Given the description of an element on the screen output the (x, y) to click on. 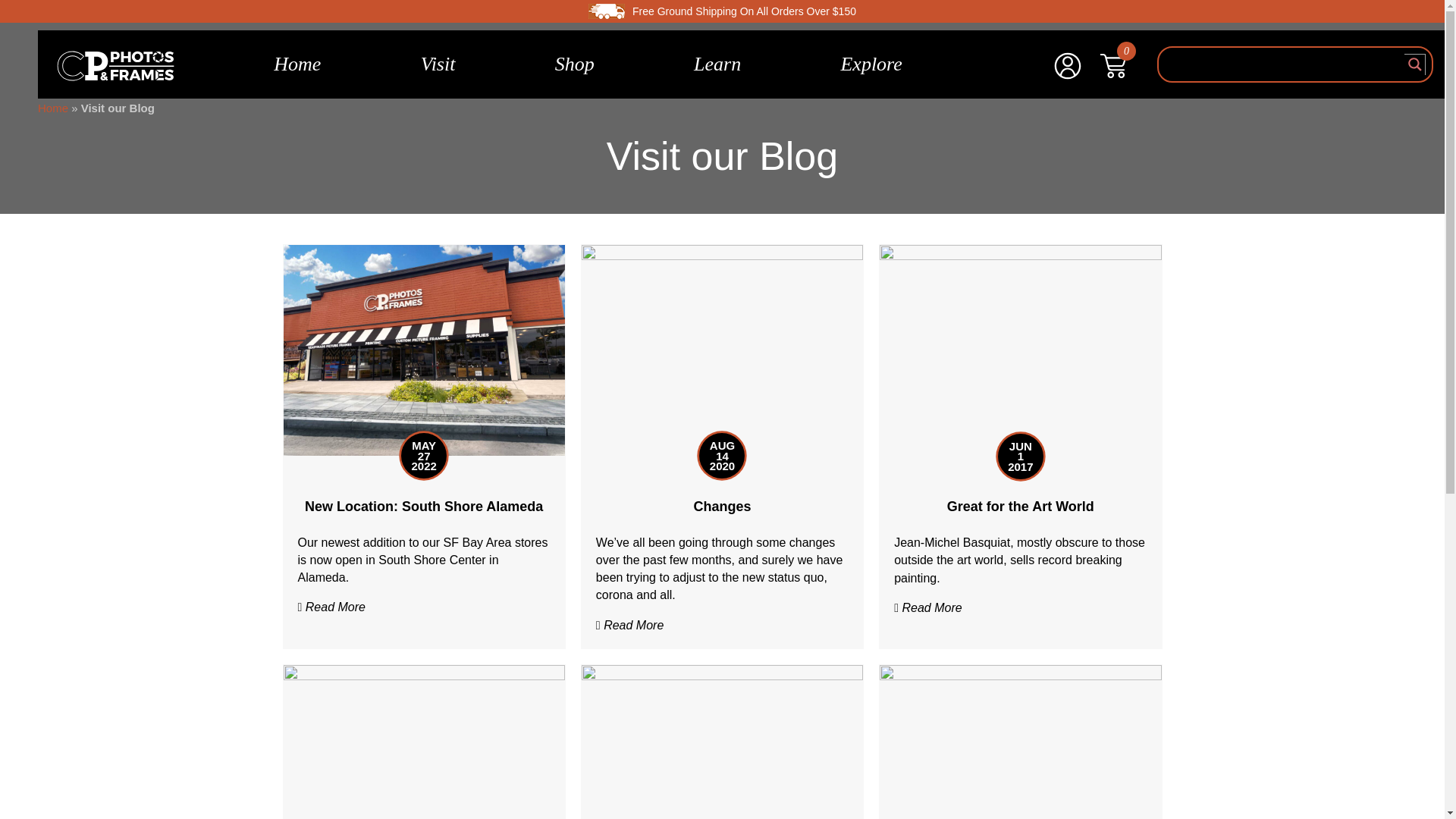
Great for the Art World (1019, 349)
New Location: South Shore Alameda (423, 349)
Great for the Art World (1020, 506)
Changes (722, 506)
Home (297, 64)
Changes (721, 349)
The Frame-O-Rama Relationship (721, 769)
Bay Area Built by US! (423, 769)
New Location: South Shore Alameda (423, 506)
